Given the description of an element on the screen output the (x, y) to click on. 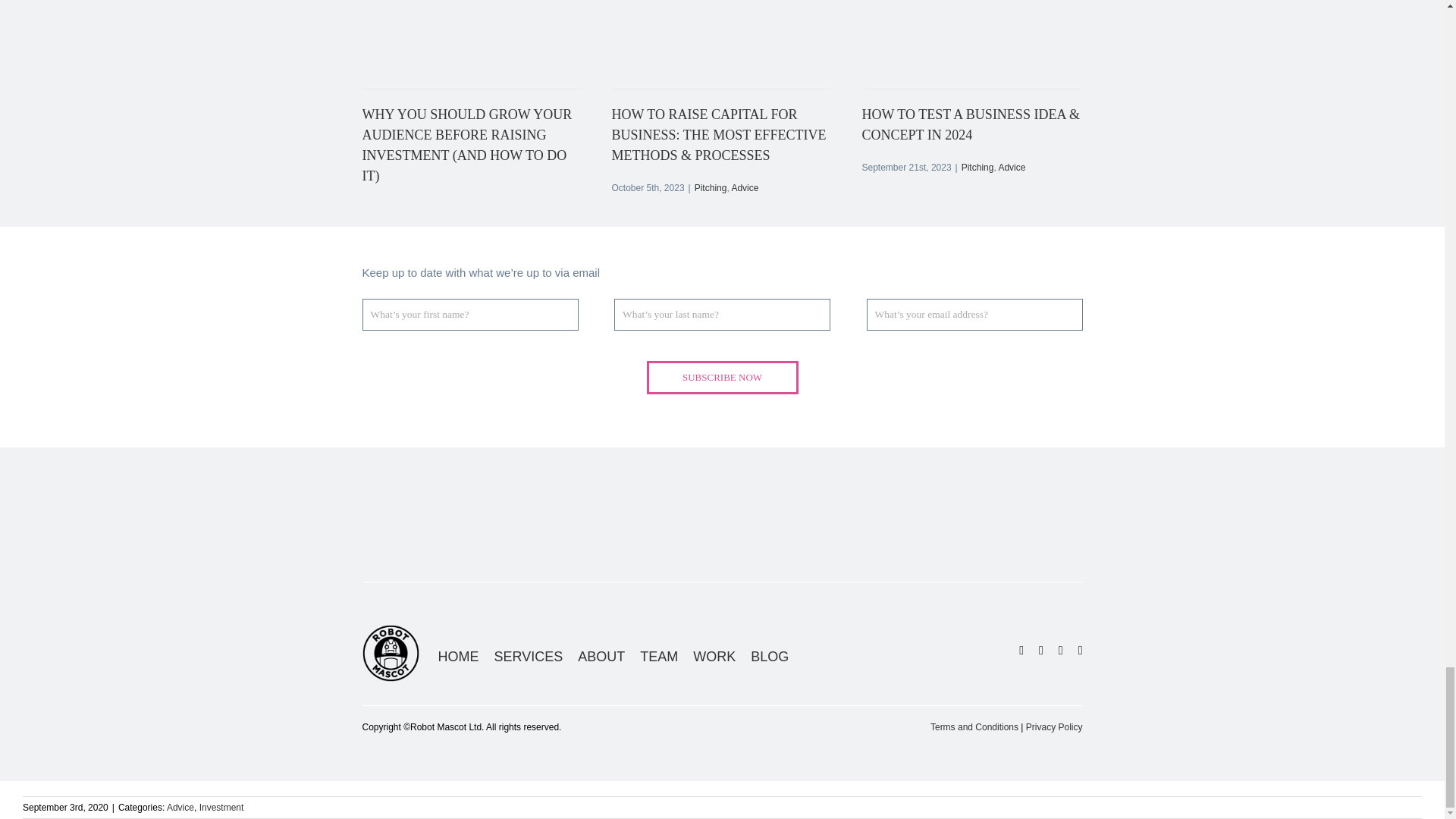
Subscribe Now (721, 377)
